Given the description of an element on the screen output the (x, y) to click on. 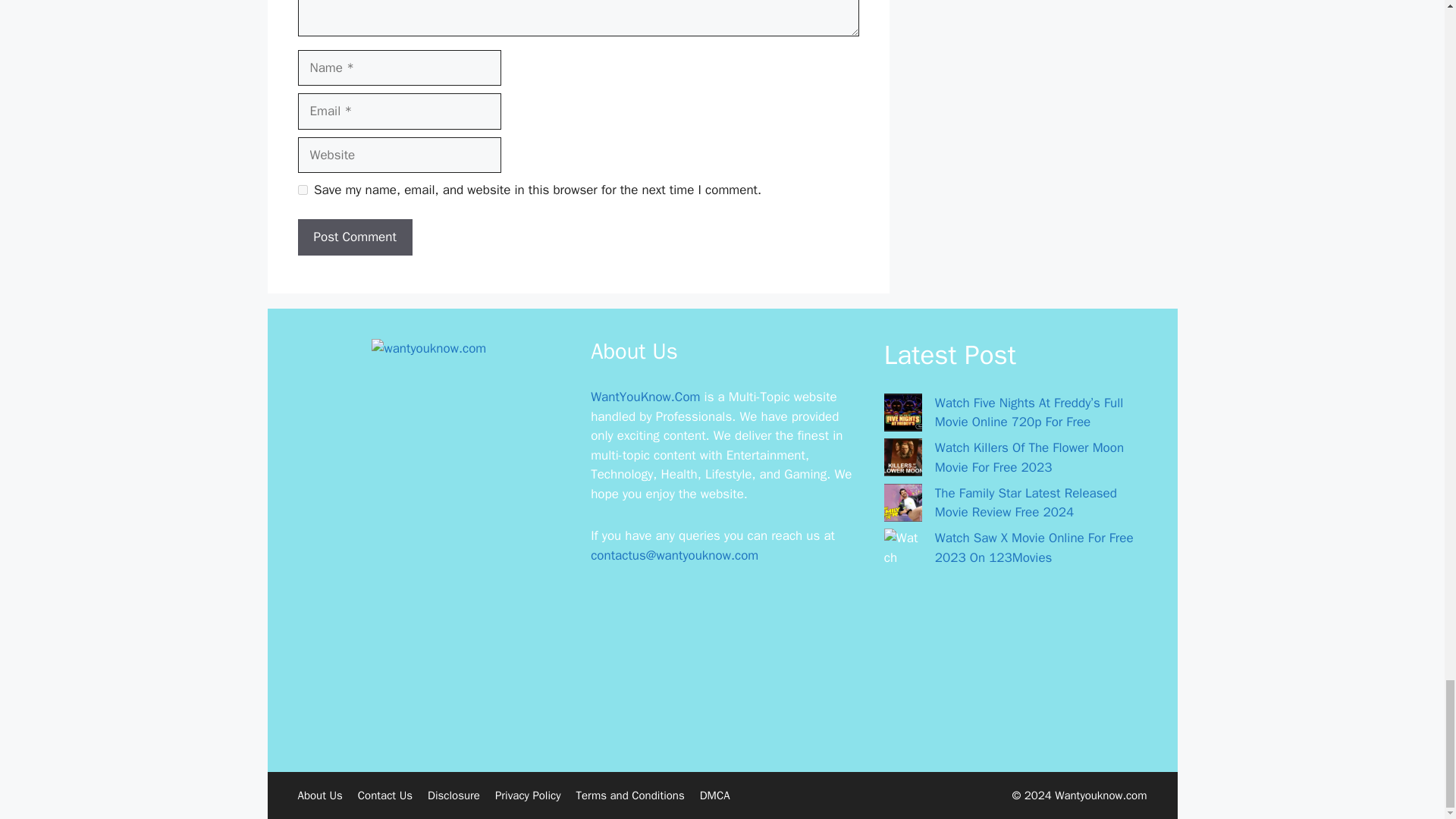
Post Comment (354, 237)
Post Comment (354, 237)
yes (302, 189)
